Given the description of an element on the screen output the (x, y) to click on. 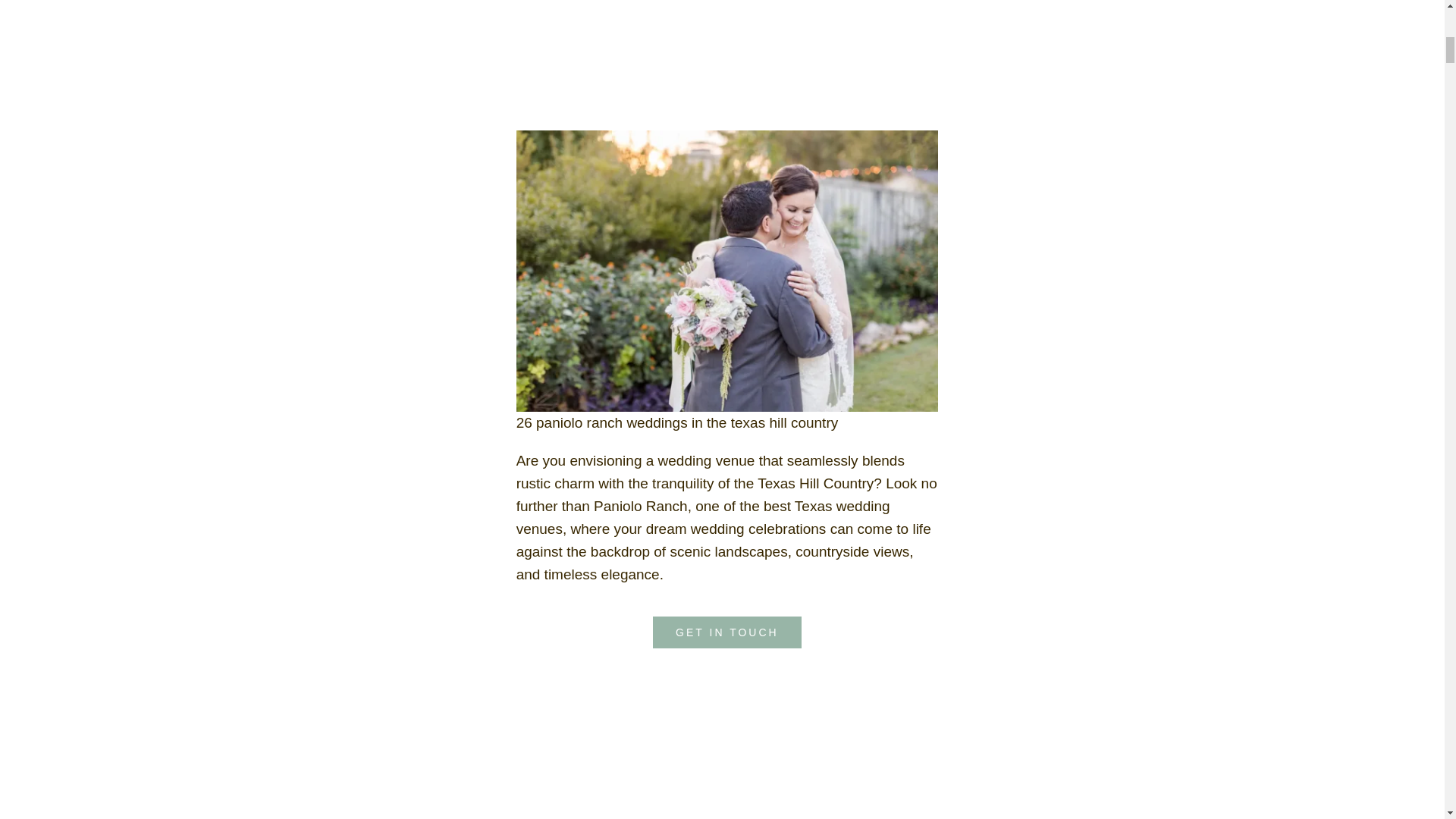
26 paniolo ranch weddings in the texas hill country (727, 270)
16 paniolo ranch weddings in the texas hill country (718, 741)
YouTube video player 1 (727, 57)
